Given the description of an element on the screen output the (x, y) to click on. 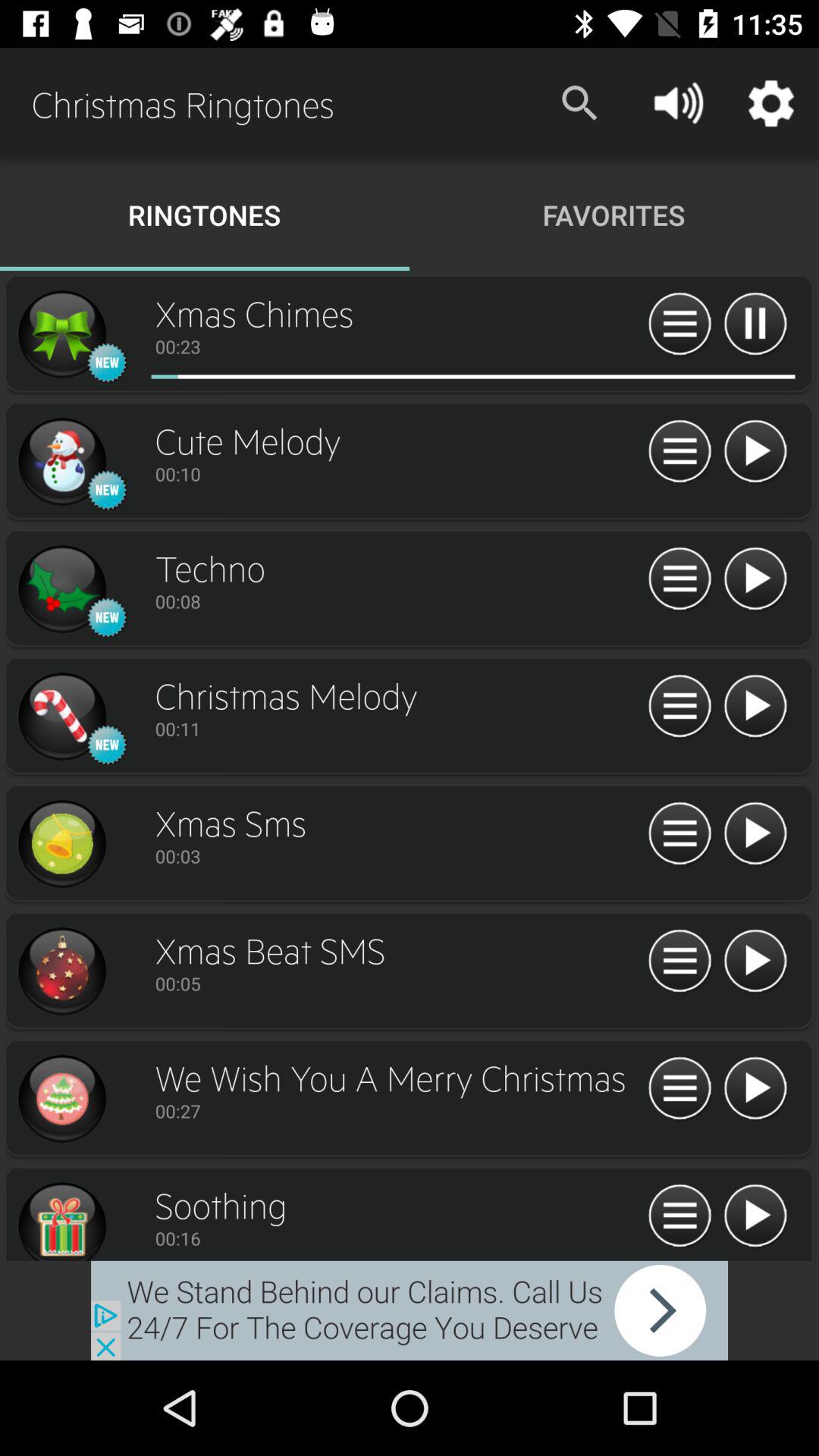
enlarges icon (61, 716)
